Given the description of an element on the screen output the (x, y) to click on. 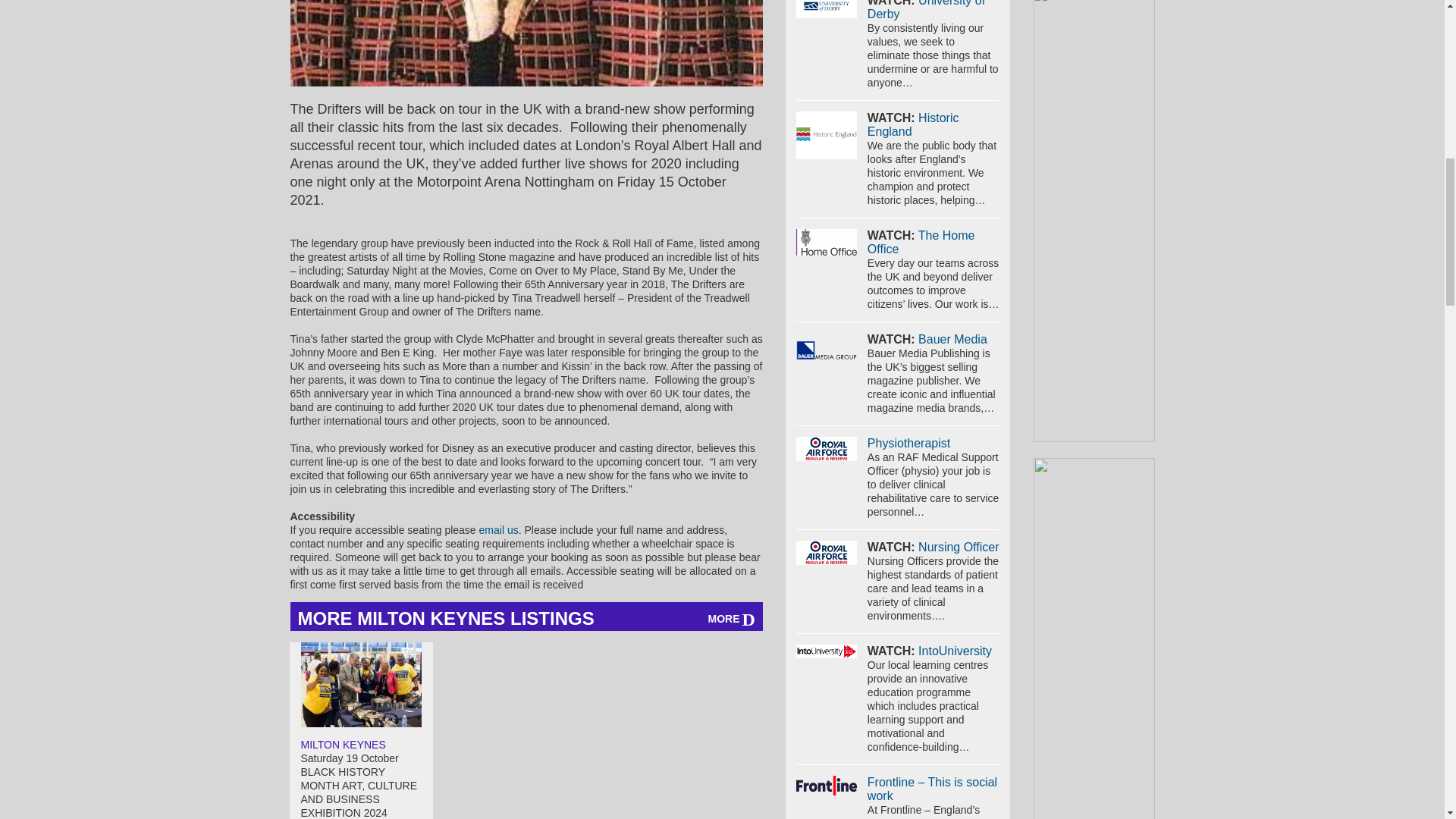
University of Derby (826, 8)
